Given the description of an element on the screen output the (x, y) to click on. 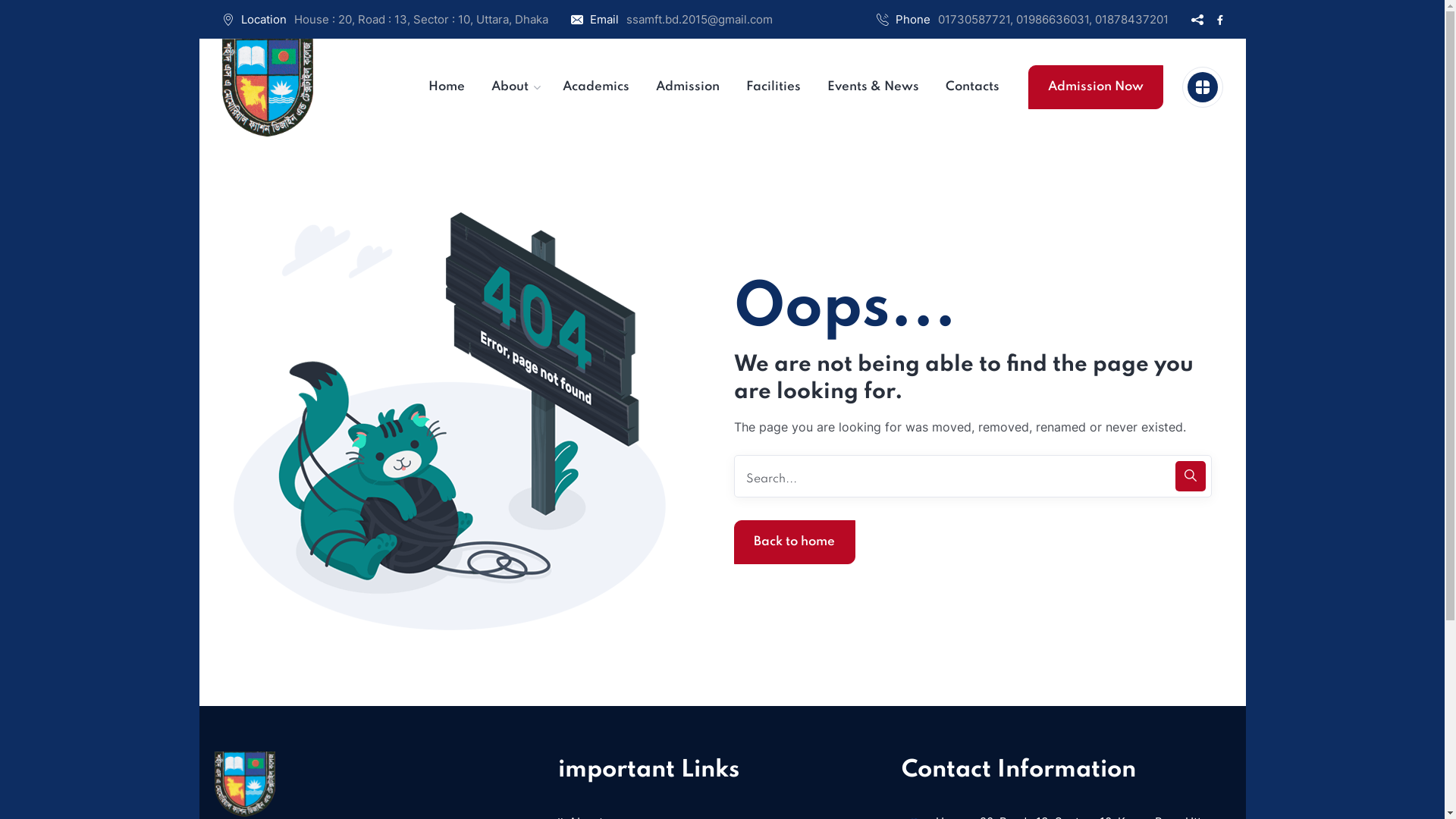
About Element type: text (509, 87)
Admission Element type: text (687, 87)
Back to home Element type: text (794, 542)
Facilities Element type: text (773, 87)
Events & News Element type: text (873, 87)
01730587721, 01986636031, 01878437201 Element type: text (1052, 19)
Home Element type: text (446, 87)
Contacts Element type: text (972, 87)
Search Element type: hover (972, 476)
Admission Now Element type: text (1095, 87)
Academics Element type: text (595, 87)
ssamft.bd.2015@gmail.com Element type: text (699, 19)
